Given the description of an element on the screen output the (x, y) to click on. 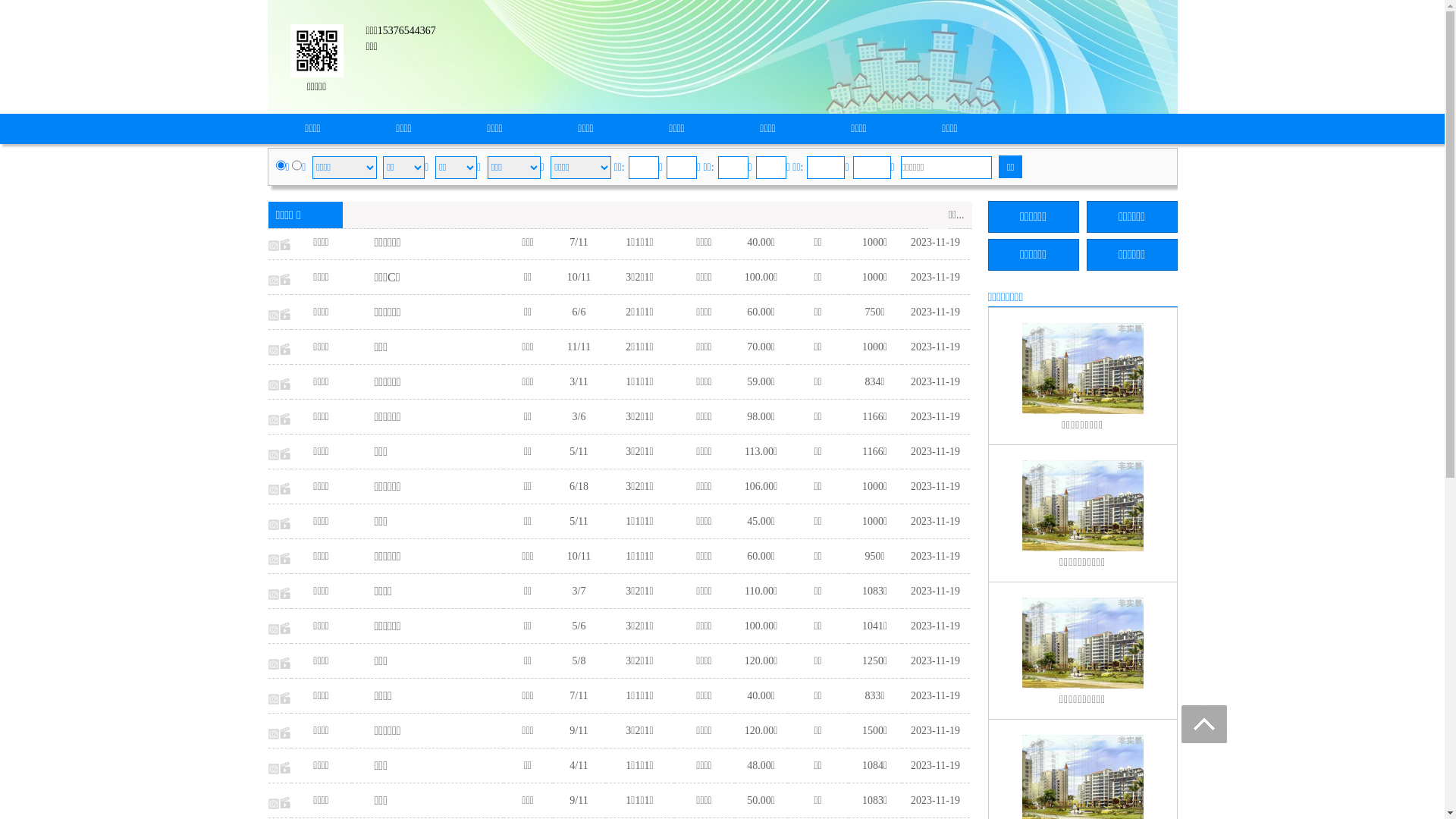
2023-11-19 Element type: text (935, 416)
3/7 Element type: text (579, 590)
6/6 Element type: text (579, 311)
9/11 Element type: text (578, 800)
vasale Element type: text (280, 165)
2023-11-19 Element type: text (935, 241)
5/11 Element type: text (578, 451)
2023-11-19 Element type: text (935, 276)
2023-11-19 Element type: text (935, 521)
7/11 Element type: text (578, 241)
varent Element type: text (296, 165)
2023-11-19 Element type: text (935, 695)
9/11 Element type: text (578, 730)
2023-11-19 Element type: text (935, 800)
3/6 Element type: text (579, 416)
6/18 Element type: text (578, 486)
2023-11-19 Element type: text (935, 451)
2023-11-19 Element type: text (935, 311)
5/8 Element type: text (579, 660)
2023-11-19 Element type: text (935, 555)
2023-11-19 Element type: text (935, 660)
2023-11-19 Element type: text (935, 590)
2023-11-19 Element type: text (935, 625)
2023-11-19 Element type: text (935, 346)
2023-11-19 Element type: text (935, 486)
2023-11-19 Element type: text (935, 730)
4/11 Element type: text (578, 765)
11/11 Element type: text (578, 346)
7/11 Element type: text (578, 695)
5/6 Element type: text (579, 625)
3/11 Element type: text (578, 381)
10/11 Element type: text (578, 555)
2023-11-19 Element type: text (935, 381)
5/11 Element type: text (578, 521)
2023-11-19 Element type: text (935, 765)
10/11 Element type: text (578, 276)
